Given the description of an element on the screen output the (x, y) to click on. 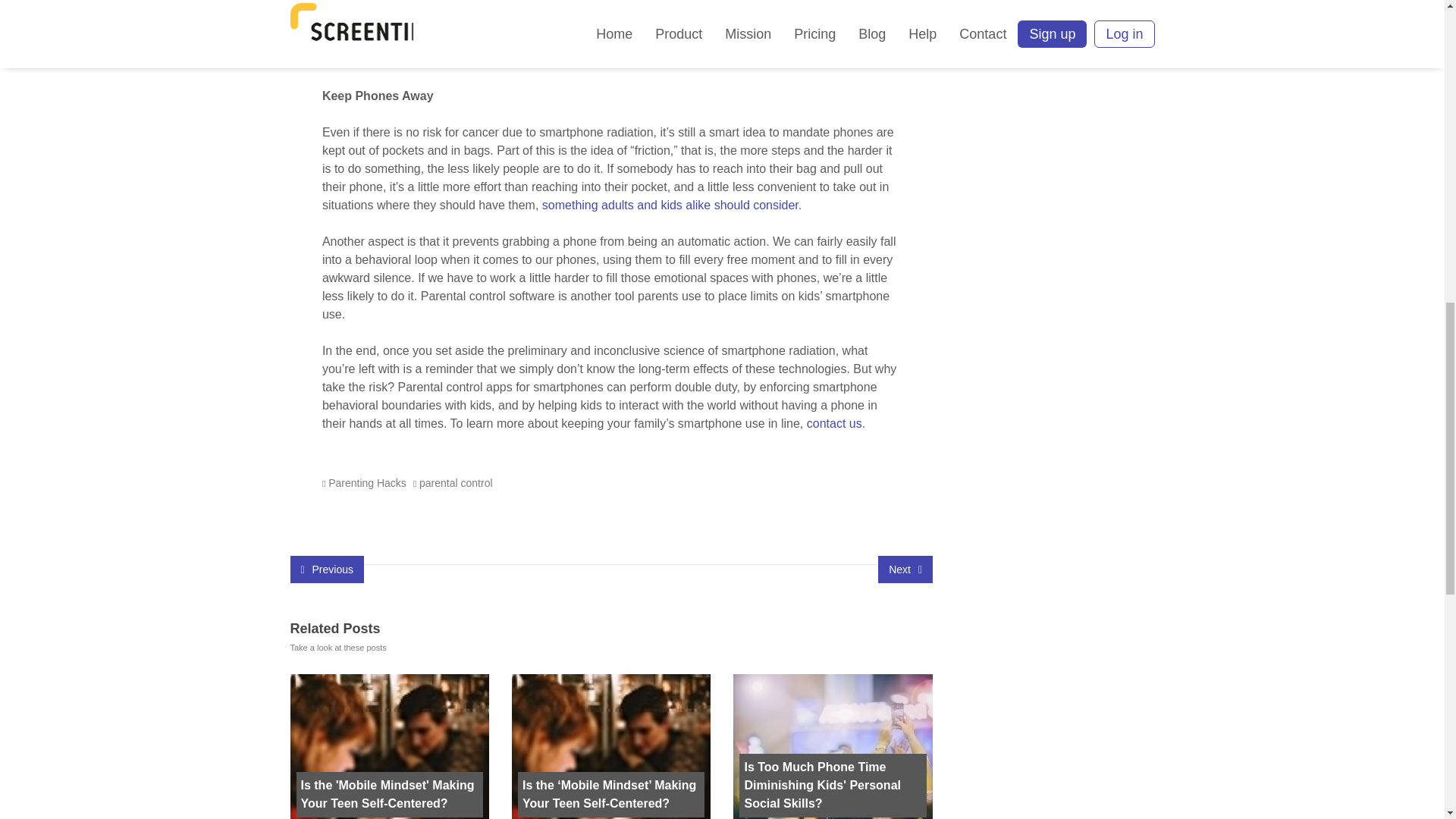
Previous (325, 569)
Next (905, 569)
Parenting Hacks (367, 482)
something adults and kids alike should consider (669, 205)
contact us (833, 422)
parental control (456, 482)
Is the 'Mobile Mindset' Making Your Teen Self-Centered? (388, 794)
